Given the description of an element on the screen output the (x, y) to click on. 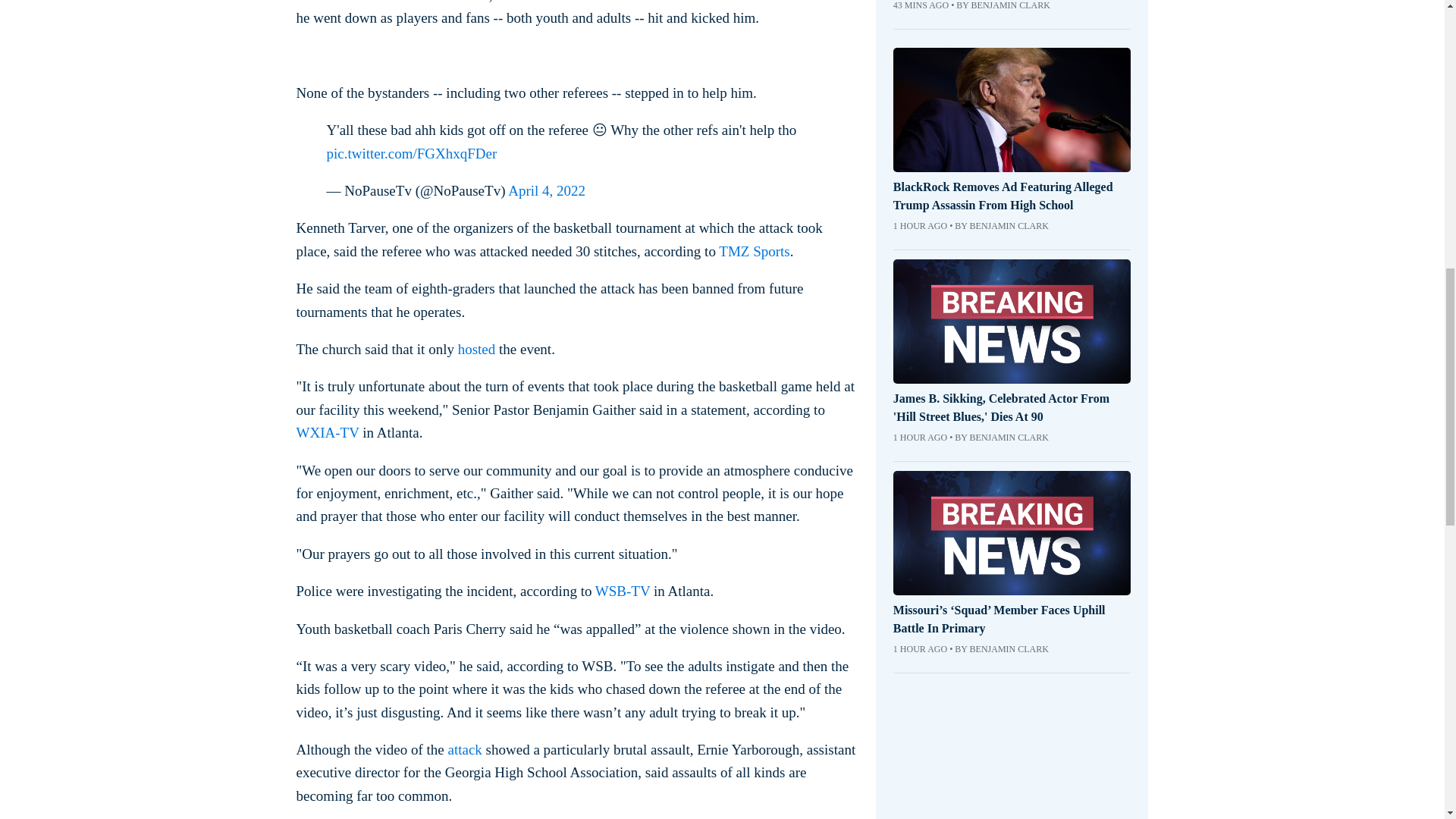
attack (463, 749)
TMZ Sports (754, 251)
hosted (477, 349)
WXIA-TV (326, 432)
April 4, 2022 (546, 190)
WSB-TV (622, 590)
